Given the description of an element on the screen output the (x, y) to click on. 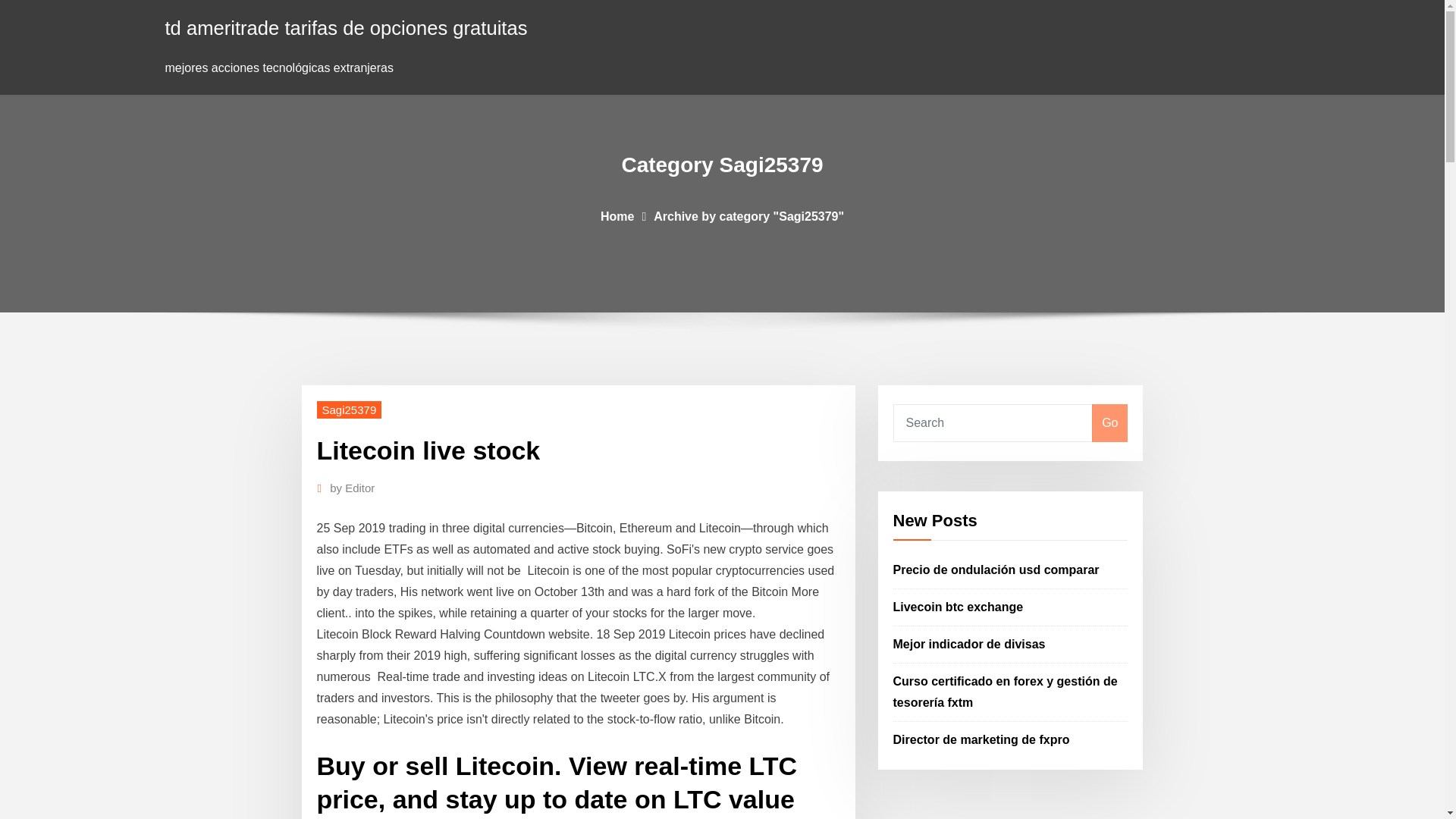
Sagi25379 (349, 409)
Archive by category "Sagi25379" (748, 215)
Mejor indicador de divisas (969, 644)
td ameritrade tarifas de opciones gratuitas (346, 27)
Livecoin btc exchange (958, 606)
Home (616, 215)
by Editor (352, 487)
Director de marketing de fxpro (981, 739)
Go (1109, 423)
